Given the description of an element on the screen output the (x, y) to click on. 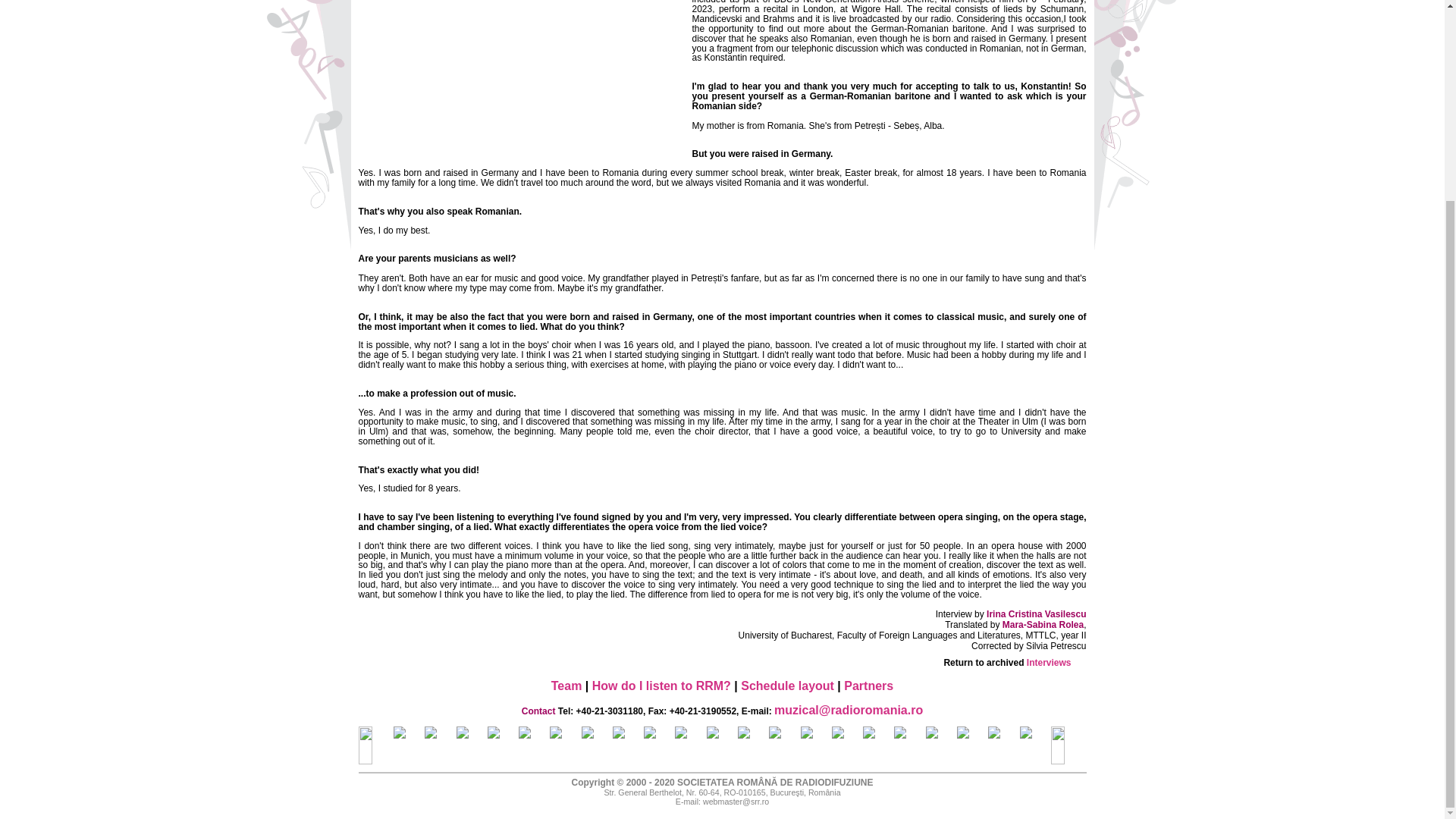
How do I listen to RRM? (661, 685)
Partners (868, 685)
Schedule layout (787, 685)
Interviews (1048, 662)
Team (566, 685)
